Given the description of an element on the screen output the (x, y) to click on. 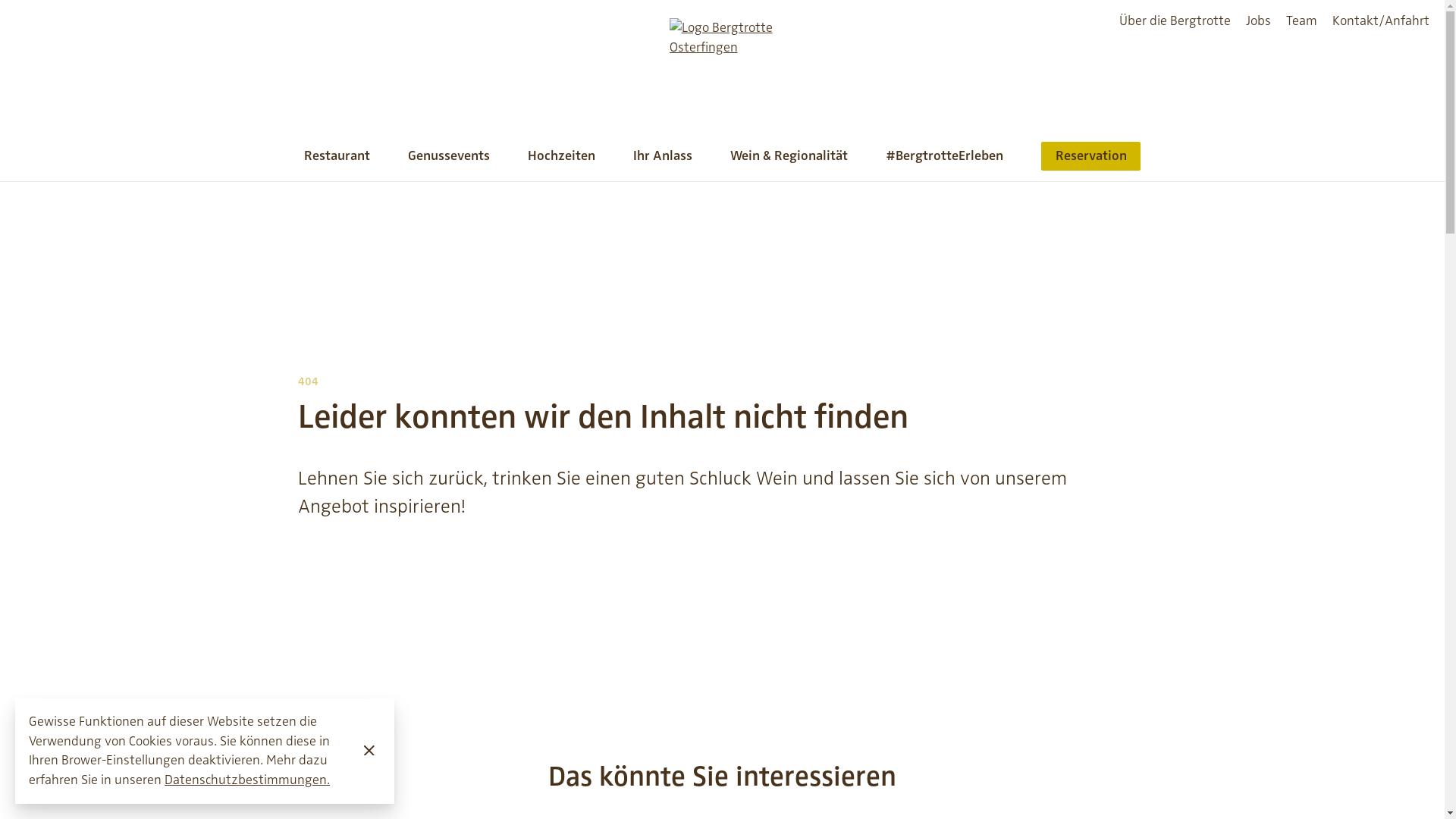
Datenschutzbestimmungen. Element type: text (246, 779)
#BergtrotteErleben Element type: text (944, 161)
Genussevents Element type: text (448, 161)
Hochzeiten Element type: text (561, 161)
Restaurant Element type: text (336, 161)
Reservation Element type: text (1090, 161)
Kontakt/Anfahrt Element type: text (1380, 15)
Schliessen Element type: text (368, 750)
Ihr Anlass Element type: text (662, 161)
Jobs Element type: text (1257, 15)
Team Element type: text (1301, 15)
